Given the description of an element on the screen output the (x, y) to click on. 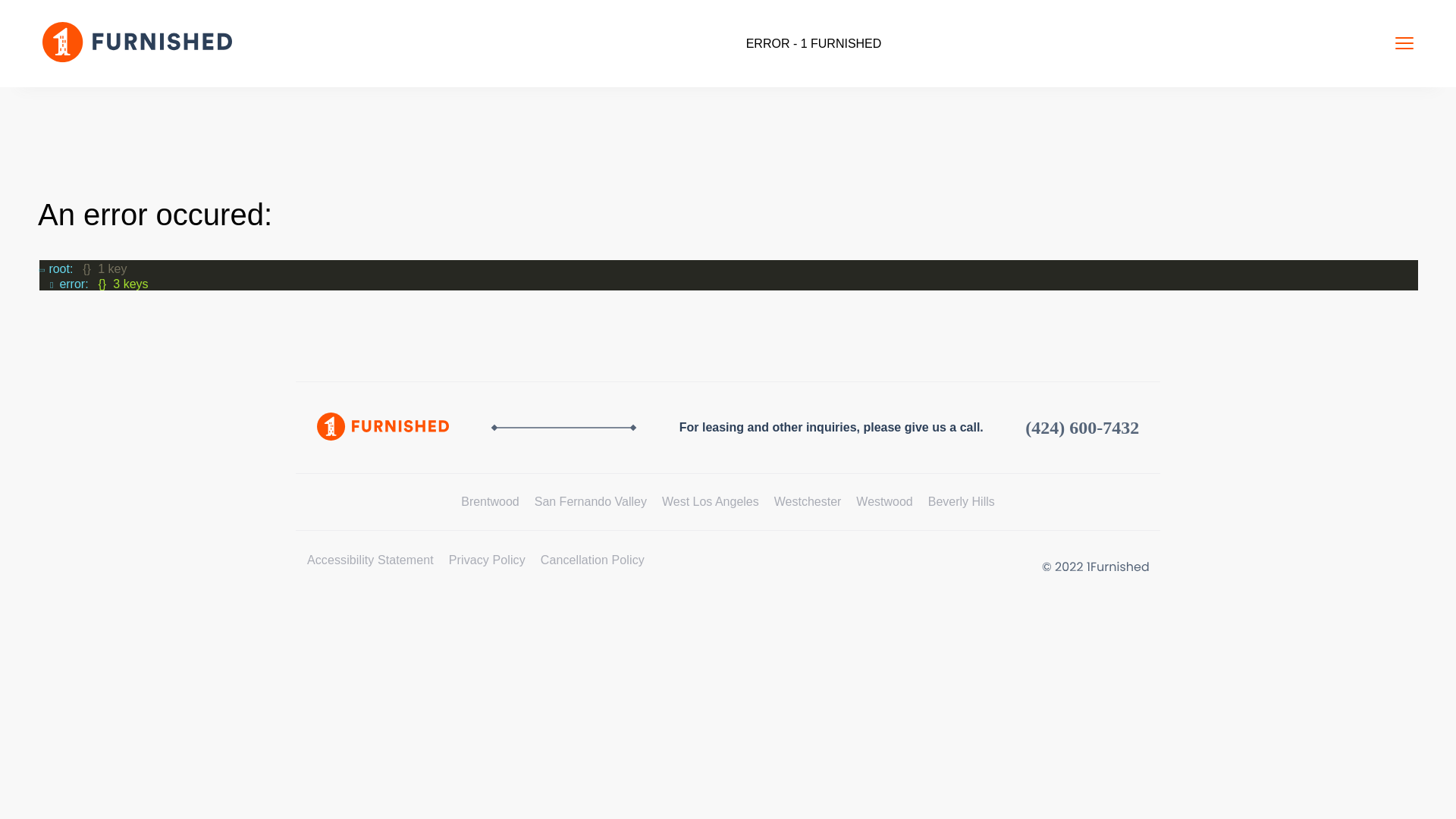
Privacy Policy Element type: text (486, 559)
(424) 600-7432 Element type: text (1082, 427)
Cancellation Policy Element type: text (592, 559)
San Fernando Valley Element type: text (590, 501)
West Los Angeles Element type: text (710, 501)
Westwood Element type: text (884, 501)
Brentwood Element type: text (490, 501)
Accessibility Statement Element type: text (370, 559)
Westchester Element type: text (807, 501)
Beverly Hills Element type: text (961, 501)
